Given the description of an element on the screen output the (x, y) to click on. 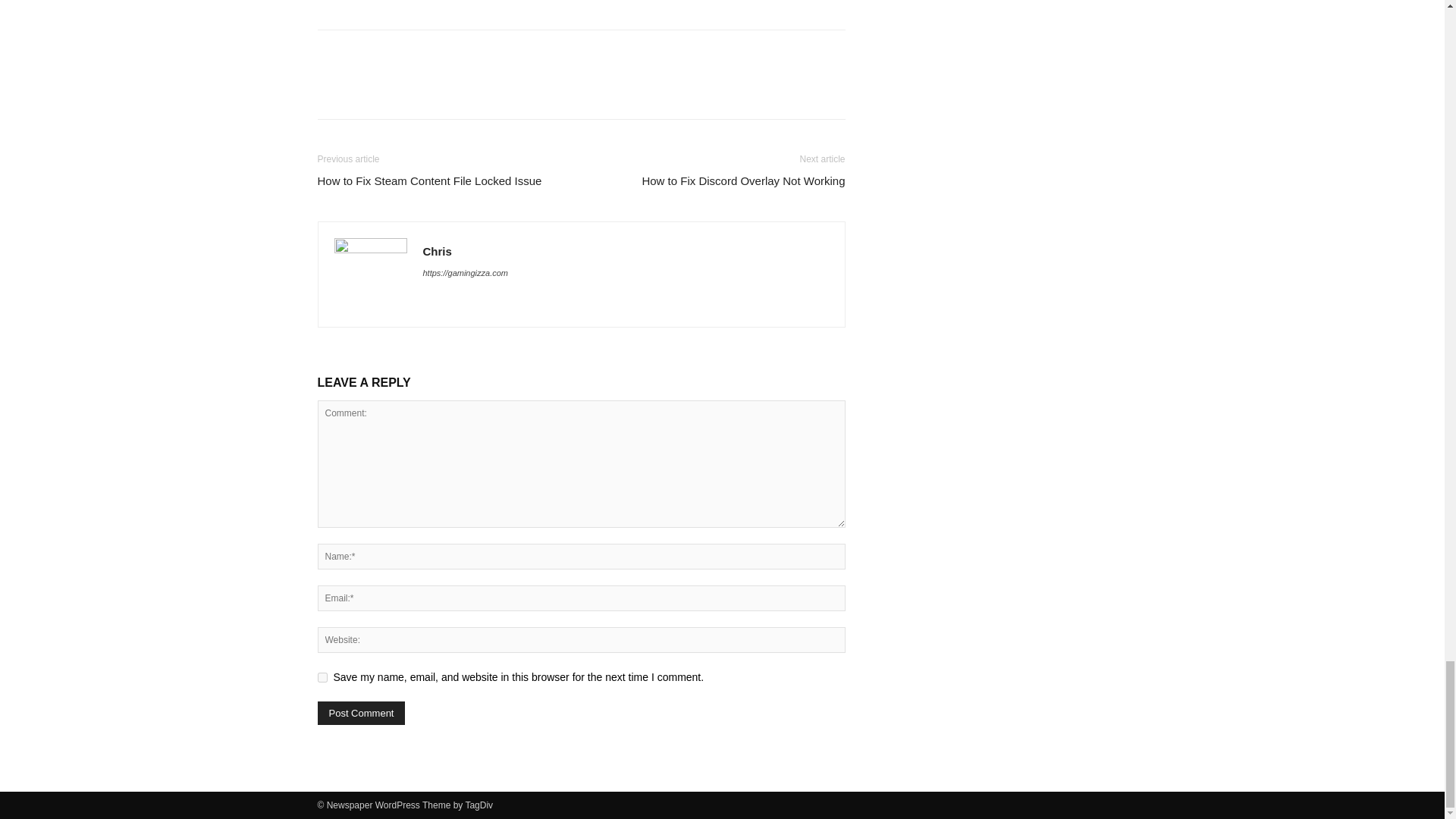
Chris (437, 250)
yes (321, 677)
How to Fix Discord Overlay Not Working (743, 180)
How to Fix Steam Content File Locked Issue (429, 180)
Post Comment (360, 712)
Post Comment (360, 712)
